Given the description of an element on the screen output the (x, y) to click on. 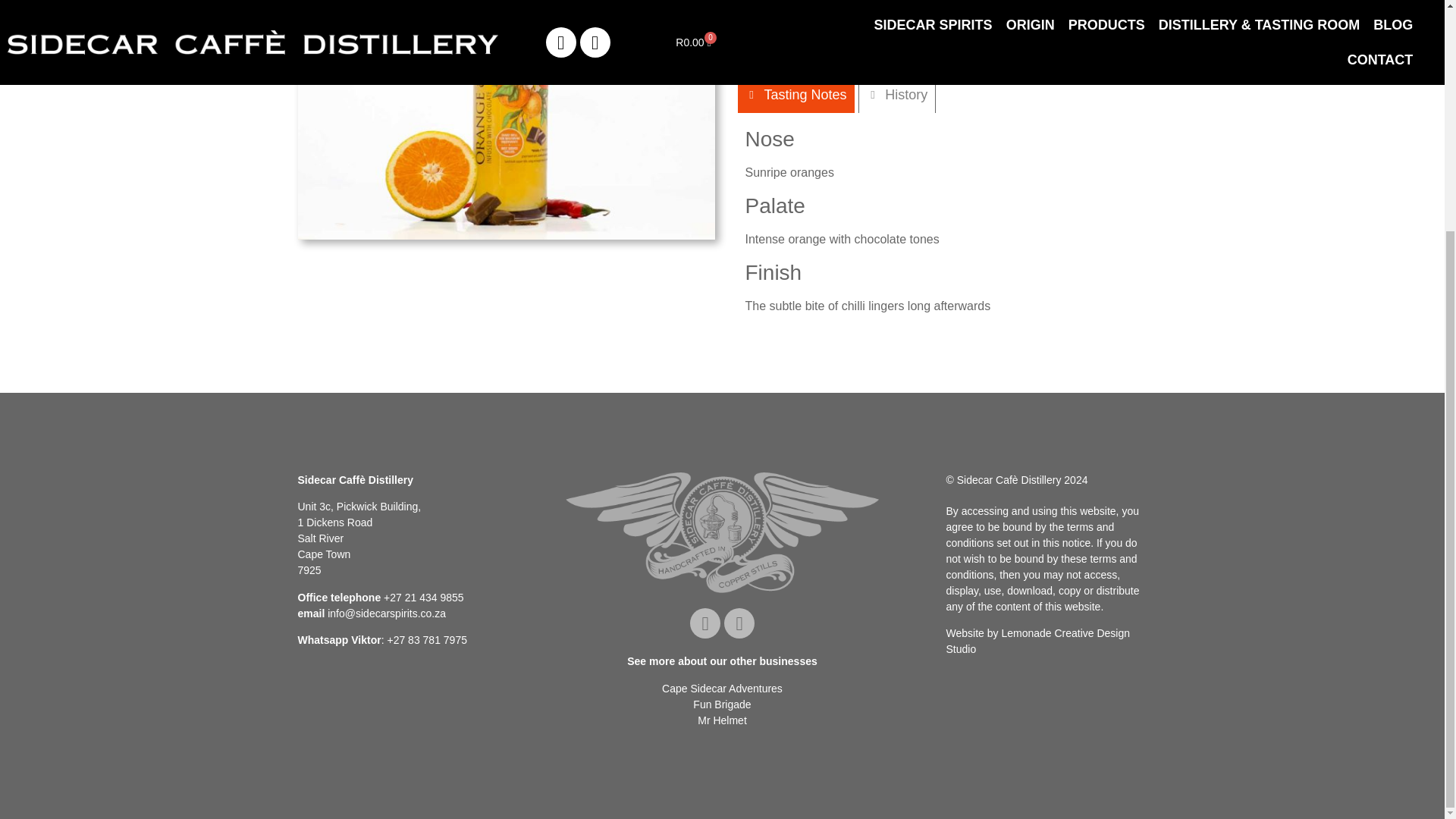
Add to cart (825, 40)
1 (751, 40)
Orange-and-chilli-with-fruit (505, 119)
